Given the description of an element on the screen output the (x, y) to click on. 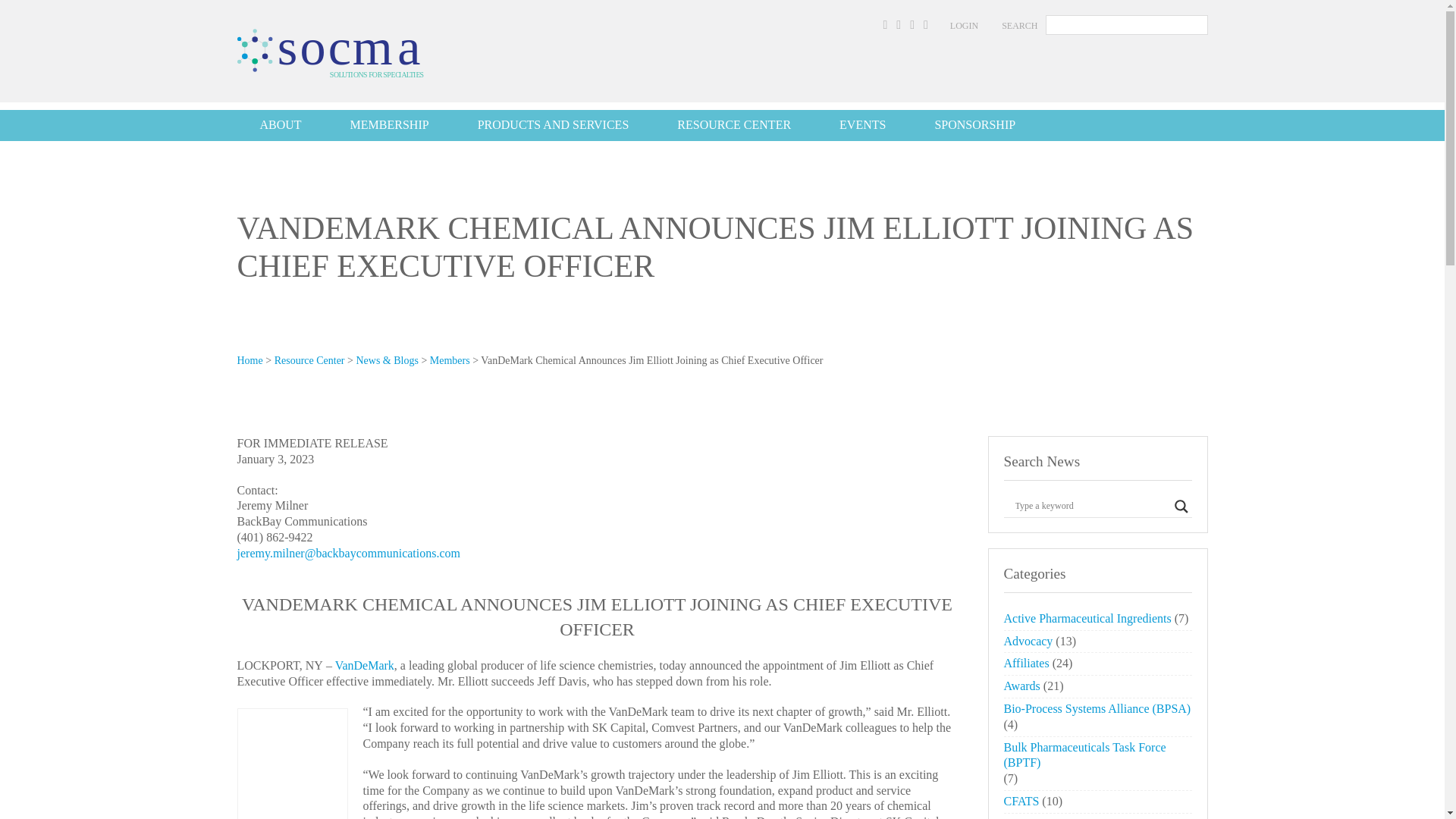
ABOUT (279, 124)
LOGIN (964, 25)
Go to Resource Center. (310, 360)
MEMBERSHIP (389, 124)
PRODUCTS AND SERVICES (553, 124)
SEARCH (1019, 25)
Go to the Members category archives. (449, 360)
